Given the description of an element on the screen output the (x, y) to click on. 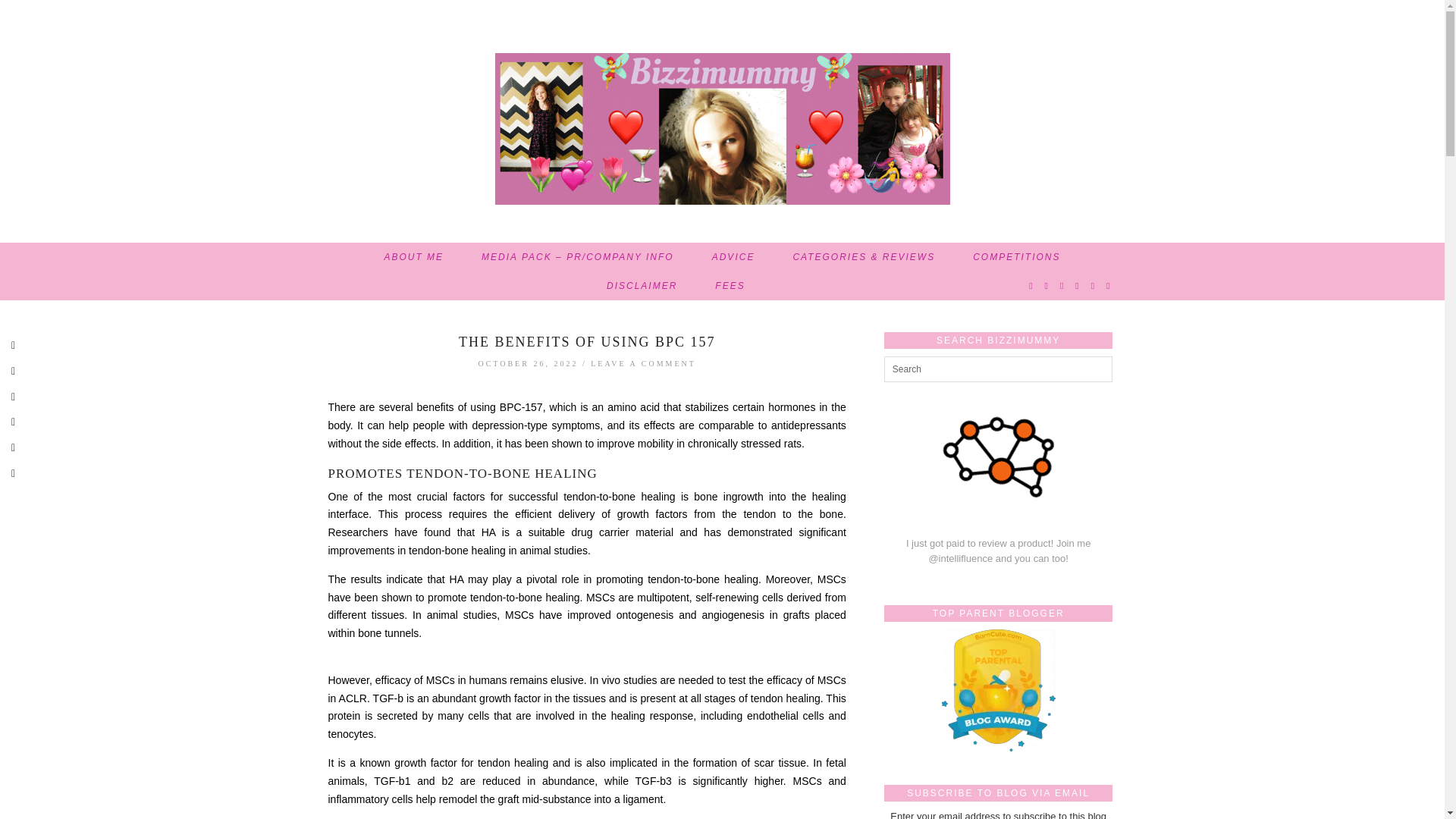
LEAVE A COMMENT (643, 363)
ADVICE (733, 256)
ABOUT ME (414, 256)
FEES (728, 285)
COMPETITIONS (1015, 256)
DISCLAIMER (641, 285)
